Given the description of an element on the screen output the (x, y) to click on. 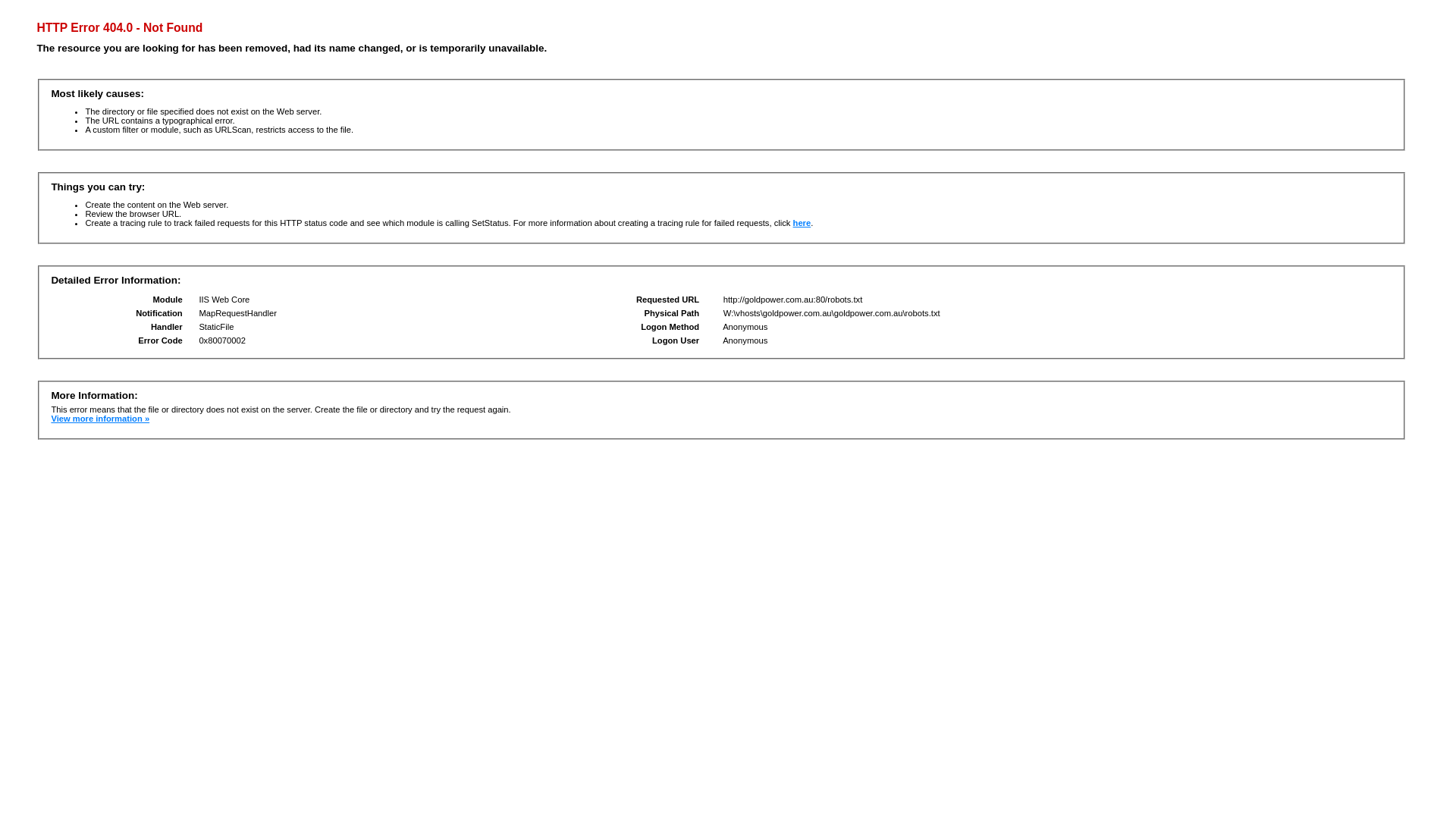
here Element type: text (802, 222)
